Given the description of an element on the screen output the (x, y) to click on. 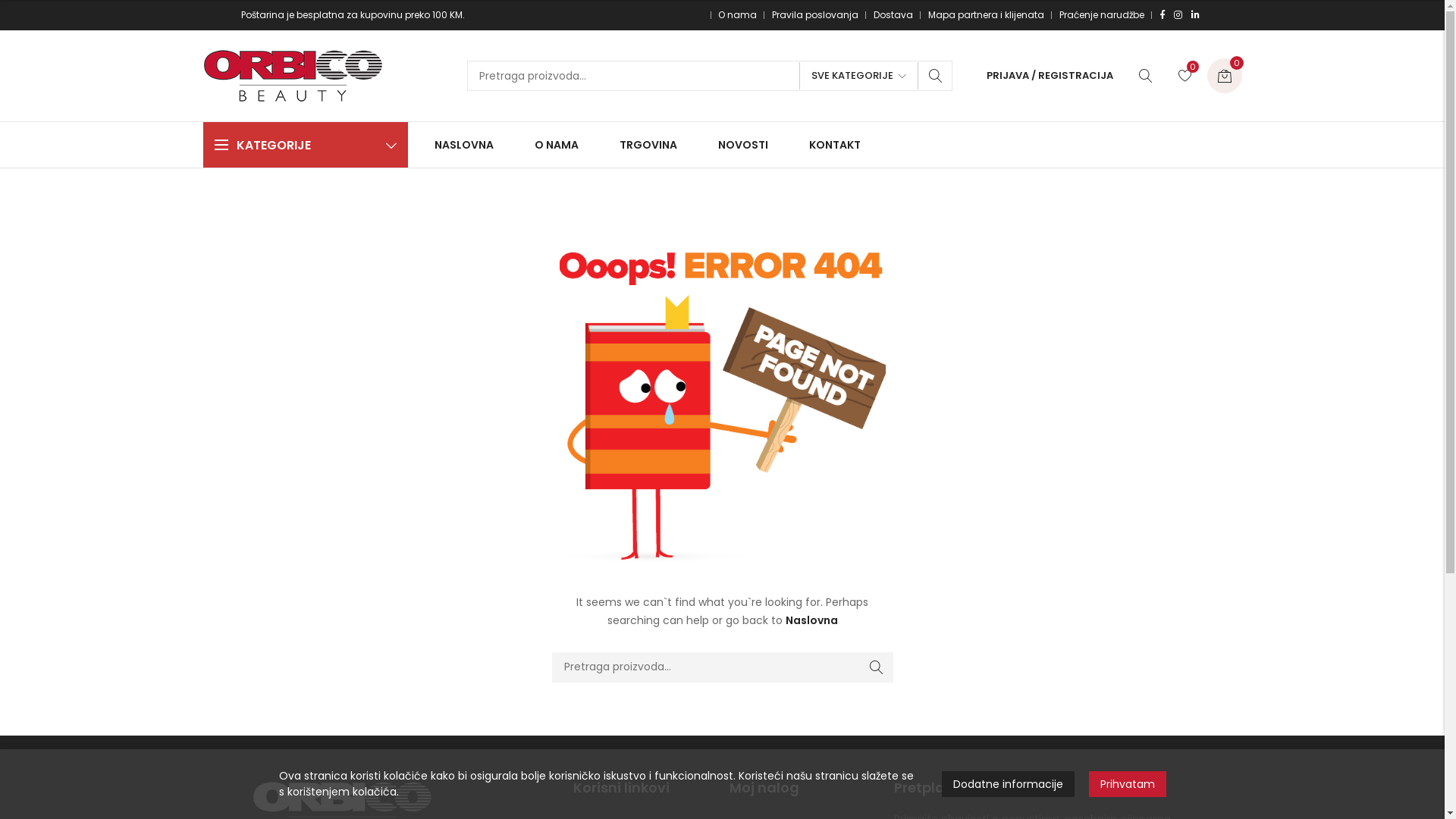
KONTAKT Element type: text (829, 144)
O NAMA Element type: text (555, 144)
NOVOSTI Element type: text (742, 144)
Prijava Element type: text (990, 188)
Search Element type: text (876, 667)
Search Element type: text (935, 75)
Instagram Element type: text (1177, 15)
Mapa partnera i klijenata Element type: text (985, 15)
TRGOVINA Element type: text (647, 144)
Prihvatam Element type: text (1127, 784)
0 Element type: text (1224, 75)
0 Element type: text (1184, 75)
O nama Element type: text (736, 15)
Prijava Element type: text (990, 298)
Naslovna Element type: text (811, 619)
Dostava Element type: text (893, 15)
SVE KATEGORIJE Element type: text (857, 76)
Facebook Element type: text (1162, 15)
PRIJAVA / REGISTRACIJA Element type: text (1049, 75)
Dodatne informacije Element type: text (1007, 784)
NASLOVNA Element type: text (466, 144)
LinkedIn Element type: text (1194, 15)
Pravila poslovanja Element type: text (815, 15)
